Given the description of an element on the screen output the (x, y) to click on. 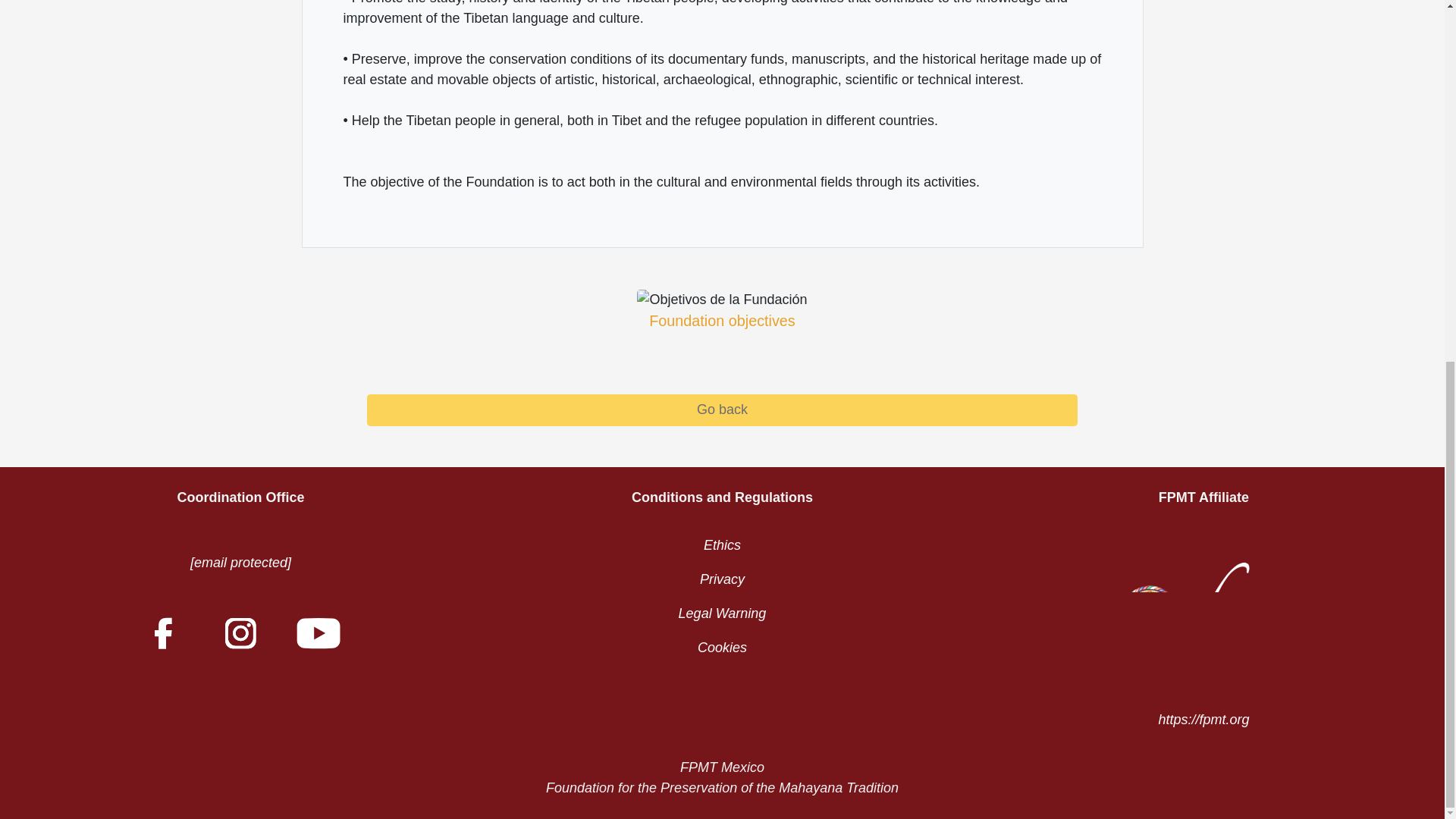
Legal Warning (722, 613)
Ethics (722, 545)
Privacy (722, 579)
Go back (722, 409)
Cookies (722, 647)
Go back (722, 409)
